Given the description of an element on the screen output the (x, y) to click on. 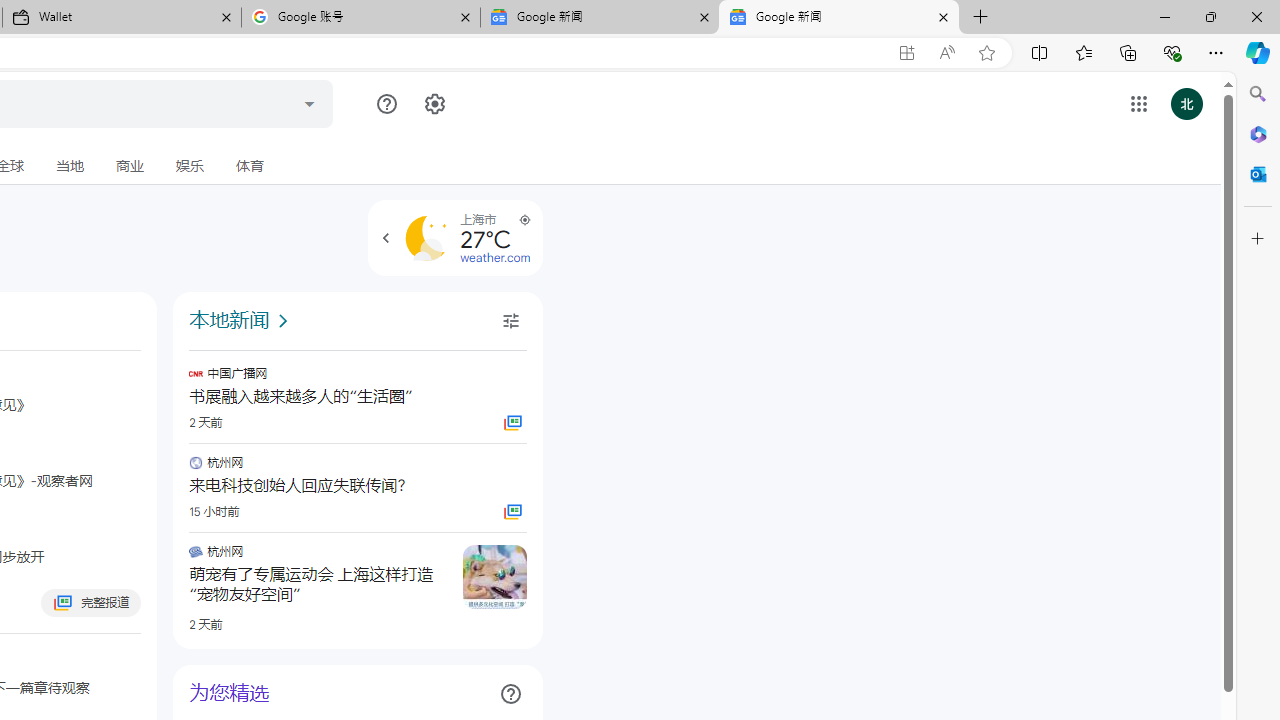
weather.com (495, 257)
Class:  NMm5M hhikbc (386, 237)
Class: ZmiOCf NMm5M (510, 693)
